Given the description of an element on the screen output the (x, y) to click on. 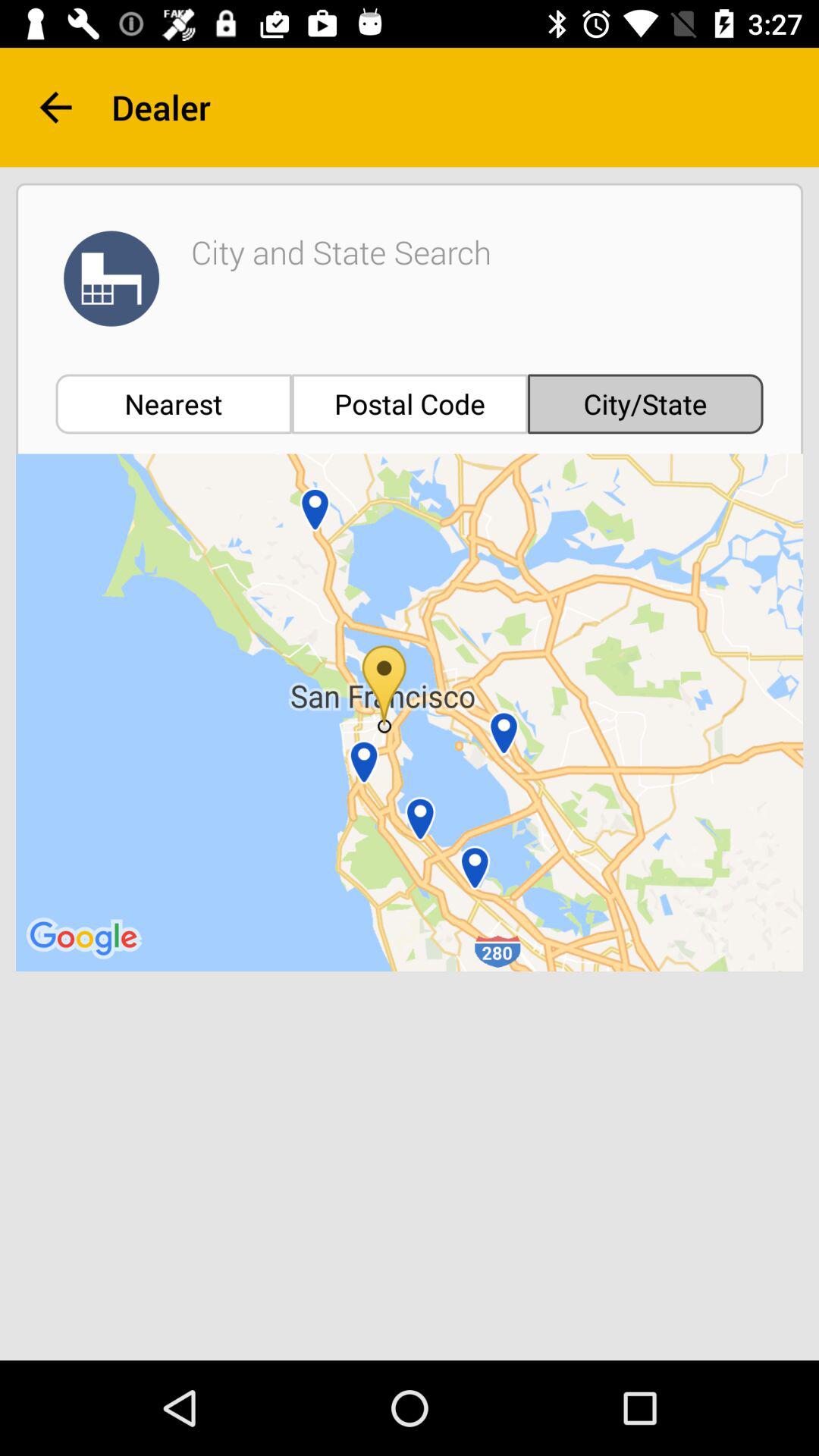
click the nearest item (173, 403)
